Given the description of an element on the screen output the (x, y) to click on. 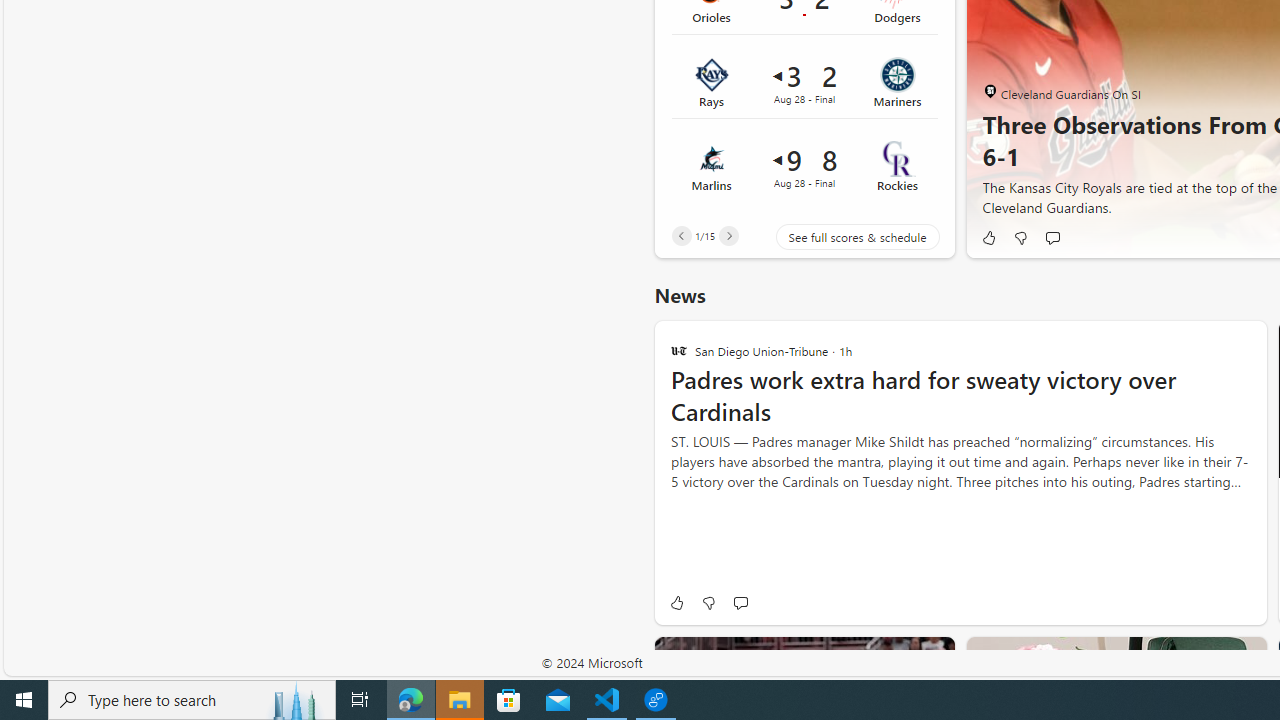
Rays 3 vs Mariners 2Final Date Aug 28 (804, 83)
Cleveland Guardians On SI (989, 91)
Previous (681, 236)
Like (676, 601)
previous (992, 26)
Marlins 9 vs Rockies 8Final Date Aug 28 (804, 166)
Class: around-the-league-card (804, 166)
Hide this story (894, 659)
Next (728, 236)
See full scores & schedule (842, 236)
